Given the description of an element on the screen output the (x, y) to click on. 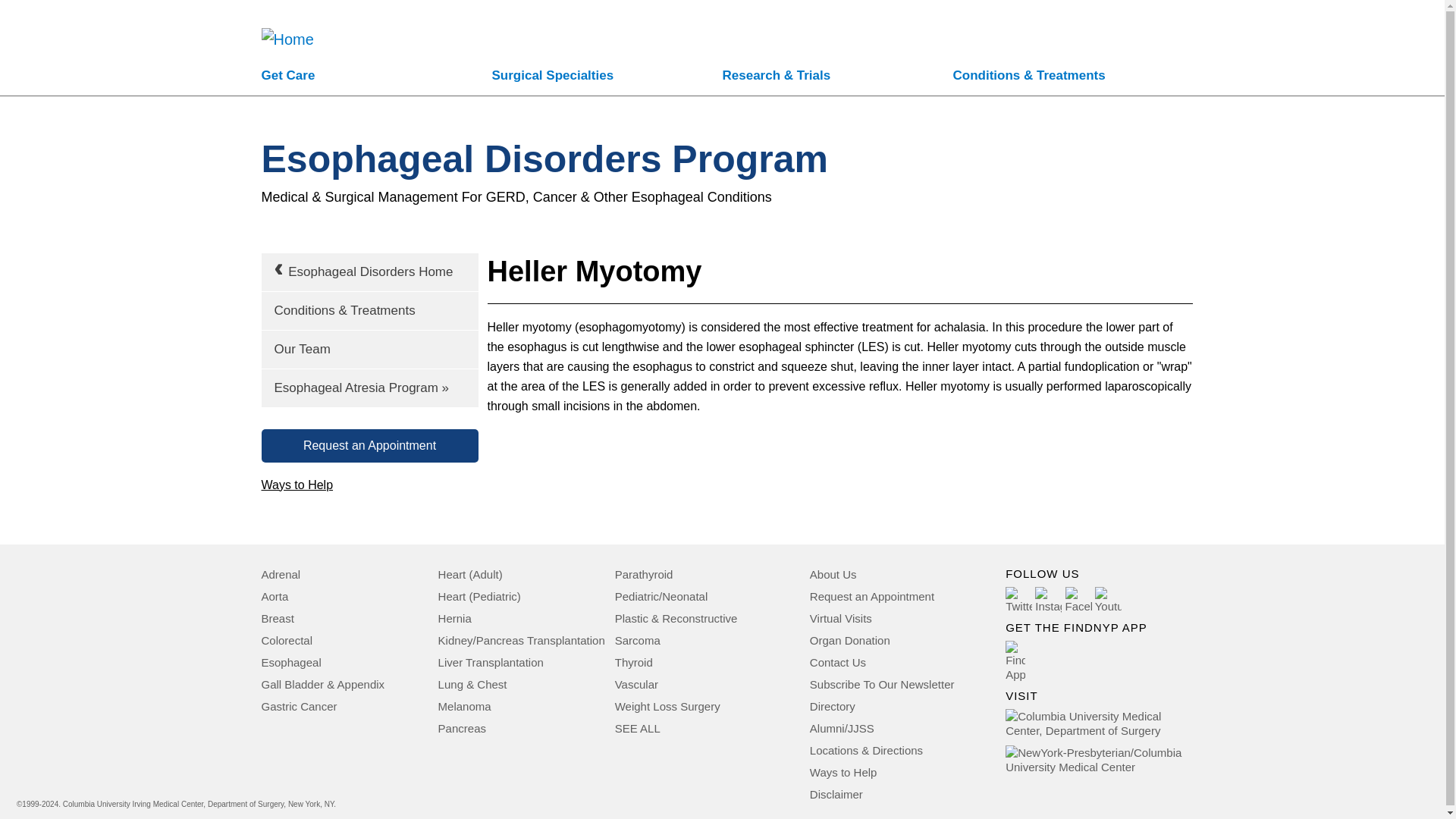
Surgical Specialties (607, 77)
Get Care (376, 77)
Home (286, 24)
